Given the description of an element on the screen output the (x, y) to click on. 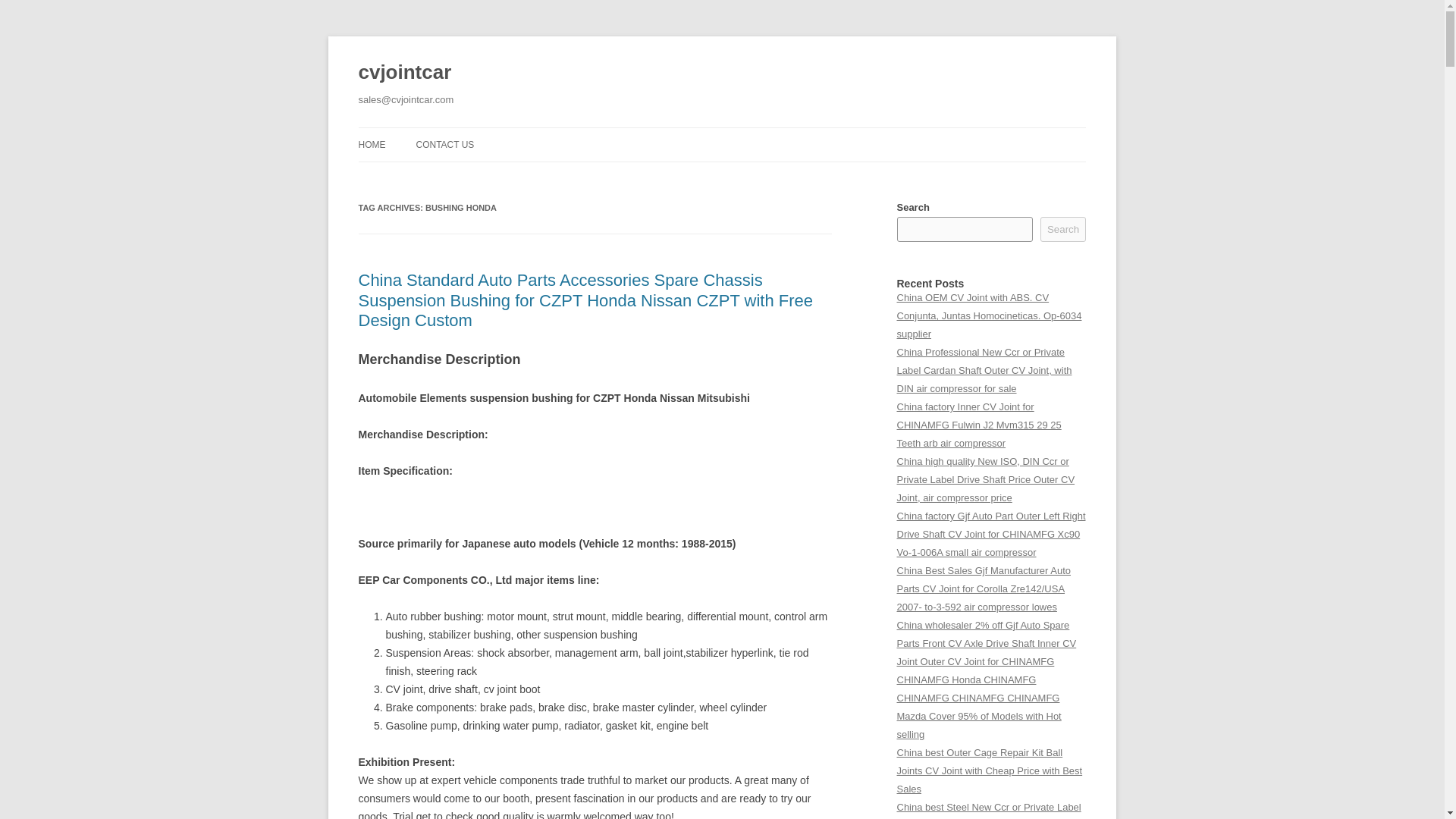
cvjointcar (404, 72)
cvjointcar (404, 72)
Search (1063, 229)
CONTACT US (444, 144)
